Given the description of an element on the screen output the (x, y) to click on. 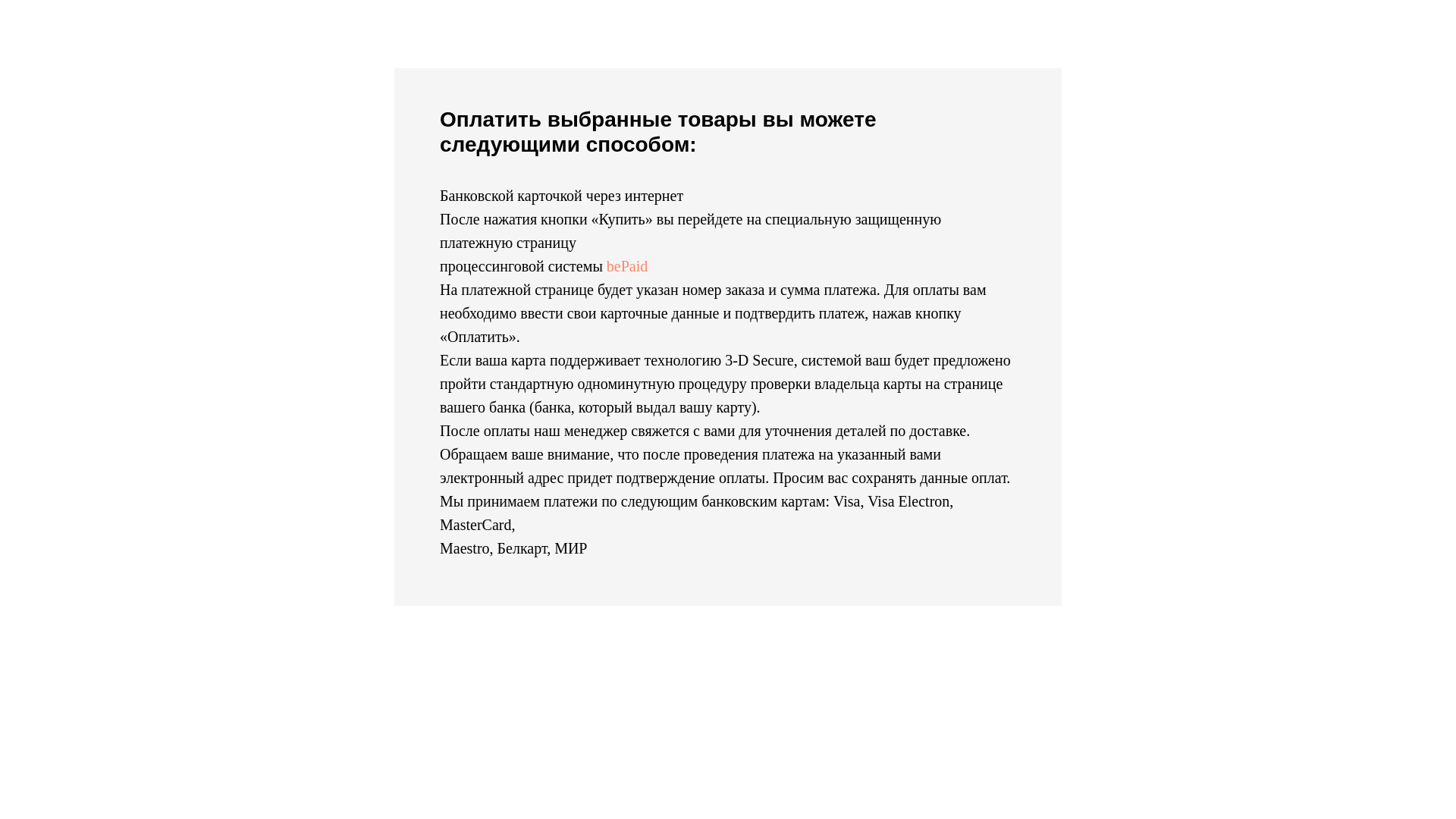
bePaid Element type: text (626, 265)
